Given the description of an element on the screen output the (x, y) to click on. 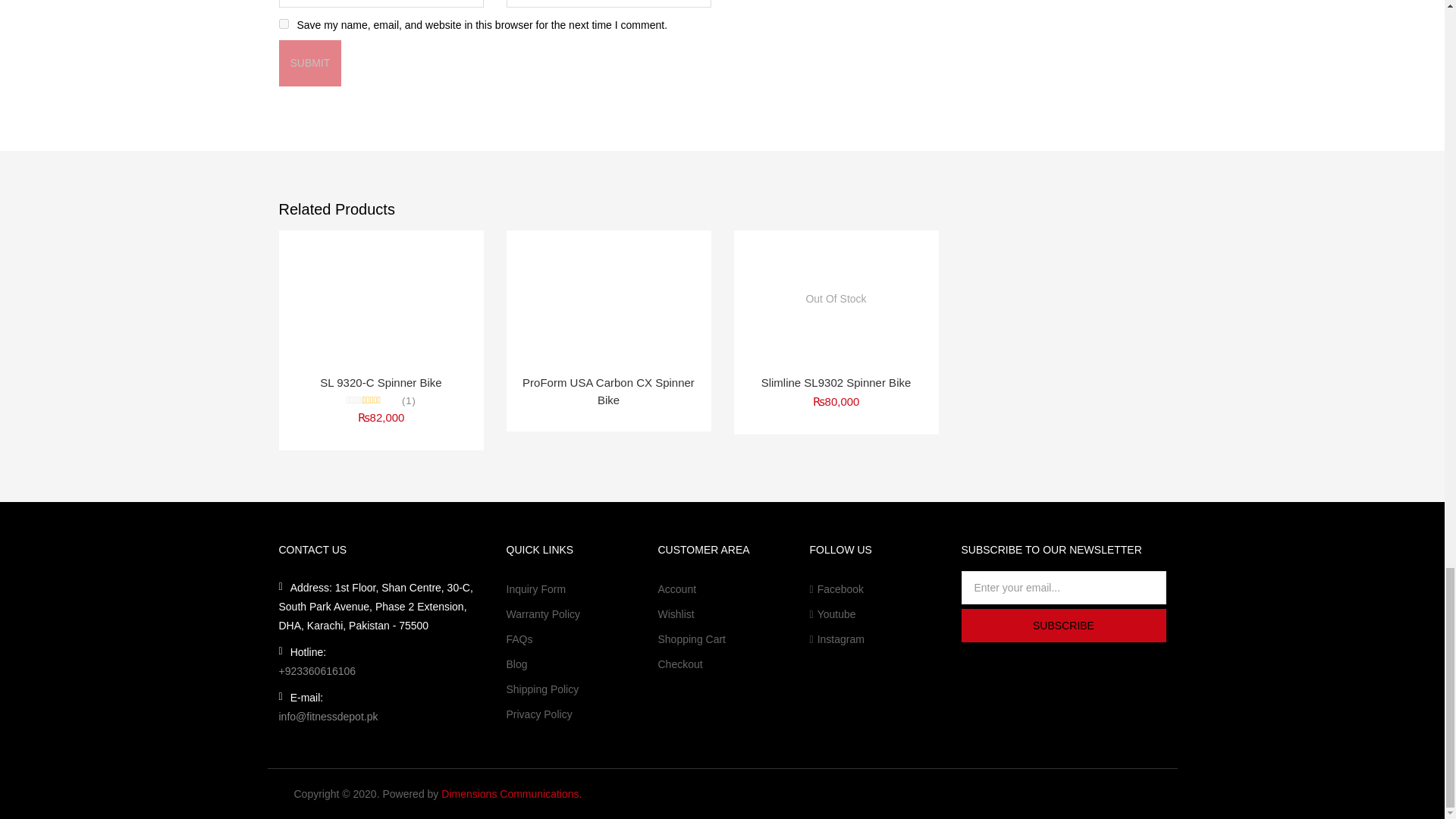
SL 9320-C Spinner Bike (381, 297)
ProForm USA Carbon CX  Spinner Bike (608, 297)
Submit (310, 63)
yes (283, 23)
Slimline SL9302 Spinner Bike (836, 297)
subscribe (1063, 625)
